Given the description of an element on the screen output the (x, y) to click on. 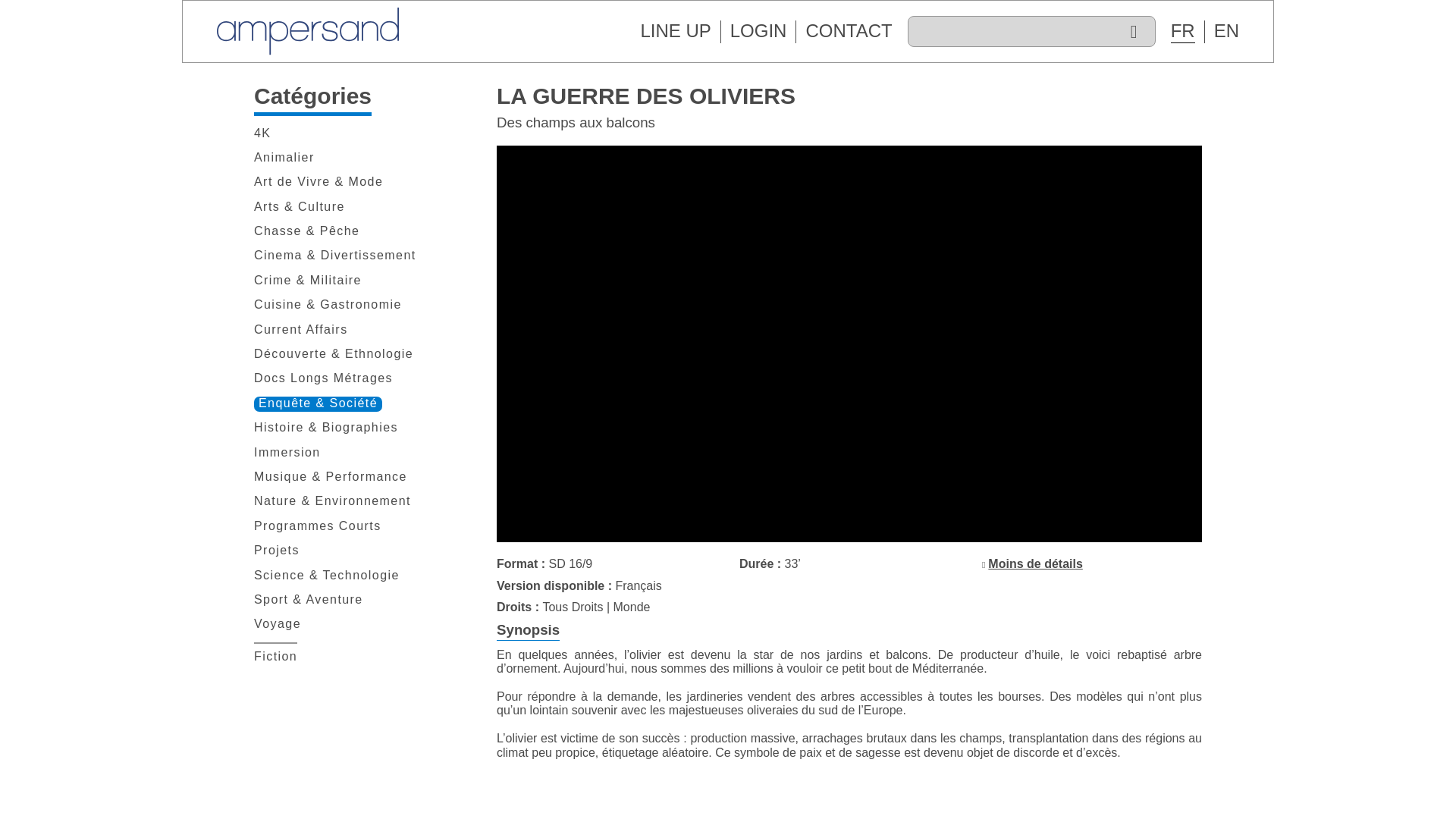
LINE UP (675, 30)
CONTACT (848, 30)
Fiction (275, 657)
Voyage (277, 624)
Animalier (283, 158)
4K (261, 133)
Immersion (286, 453)
LOGIN (758, 30)
Current Affairs (300, 330)
Projets (276, 550)
